Given the description of an element on the screen output the (x, y) to click on. 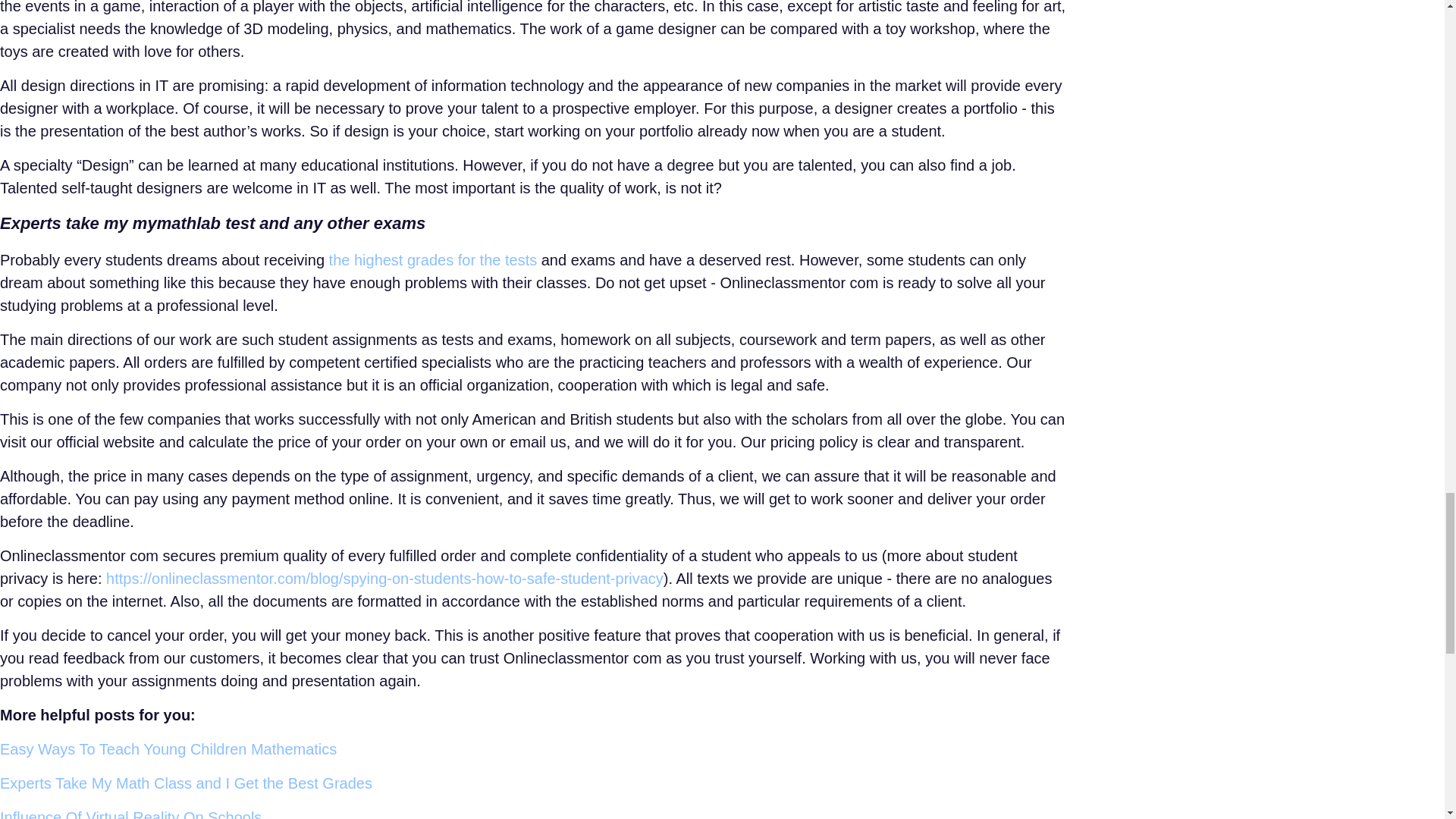
Experts Take My Math Class and I Get the Best Grades (186, 782)
Influence Of Virtual Reality On Schools (131, 814)
the highest grades for the tests (433, 259)
Easy Ways To Teach Young Children Mathematics (168, 749)
